Given the description of an element on the screen output the (x, y) to click on. 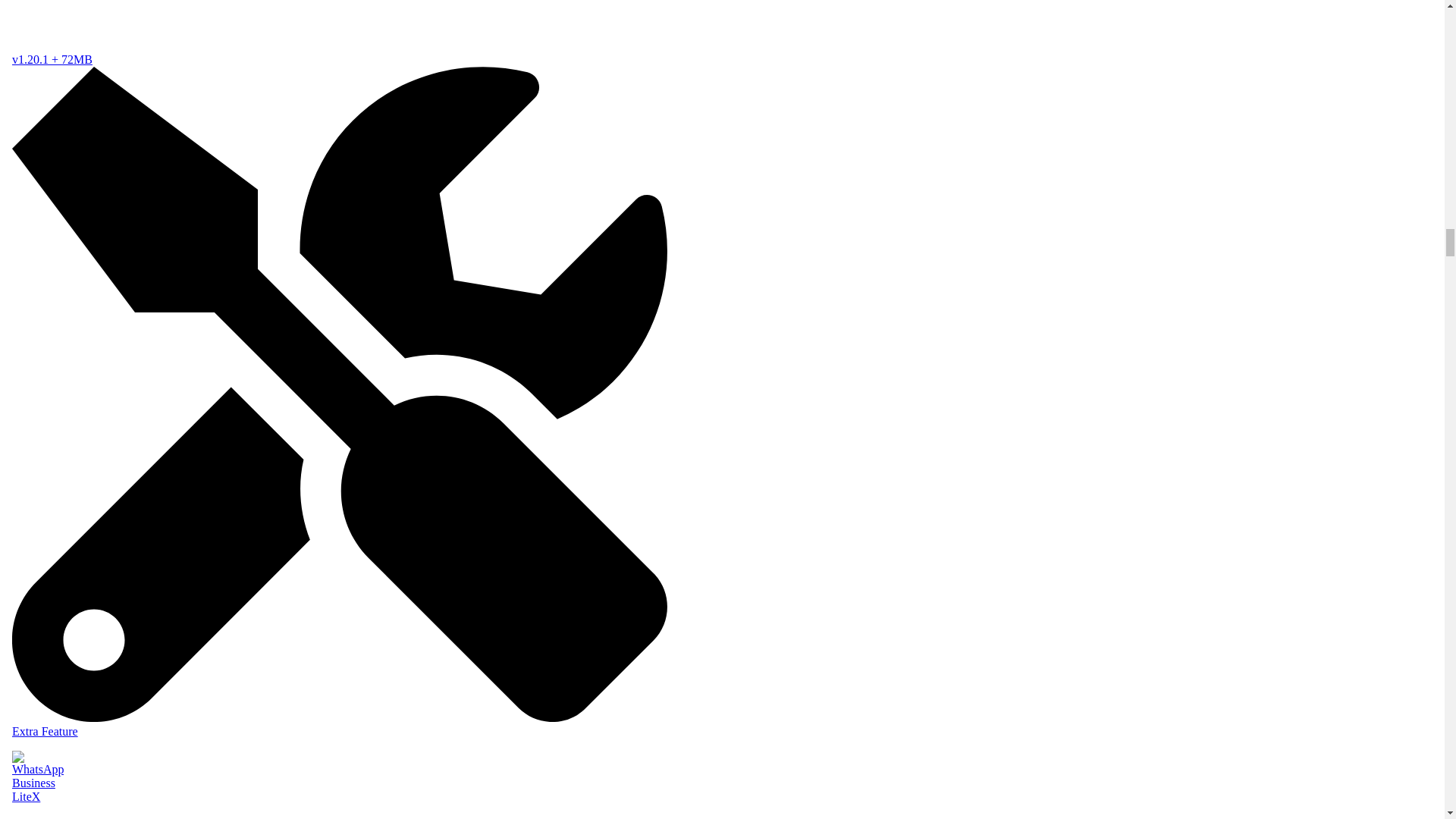
WhatsApp Business LiteX (338, 781)
